Given the description of an element on the screen output the (x, y) to click on. 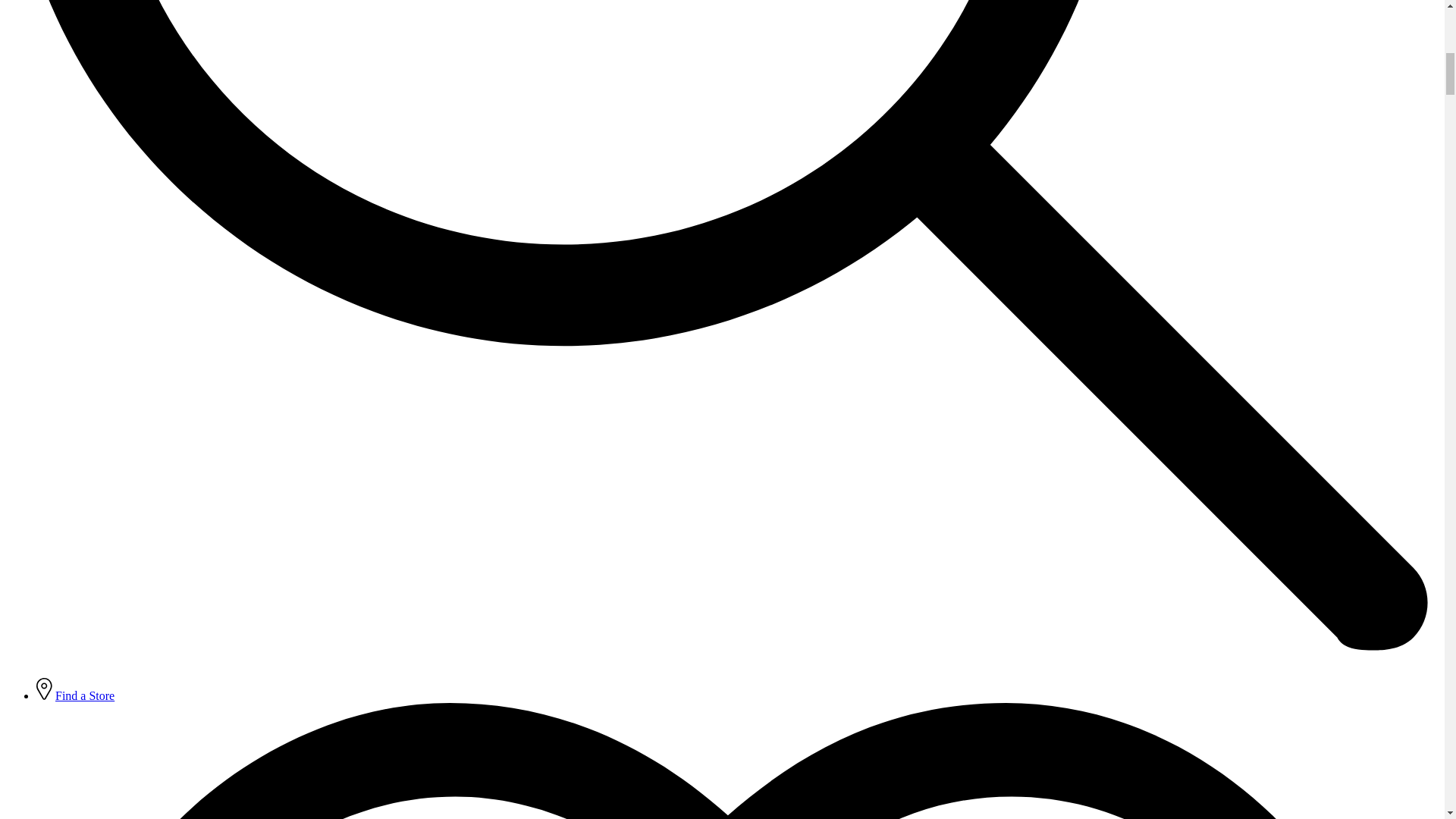
Find a Store (85, 695)
